Given the description of an element on the screen output the (x, y) to click on. 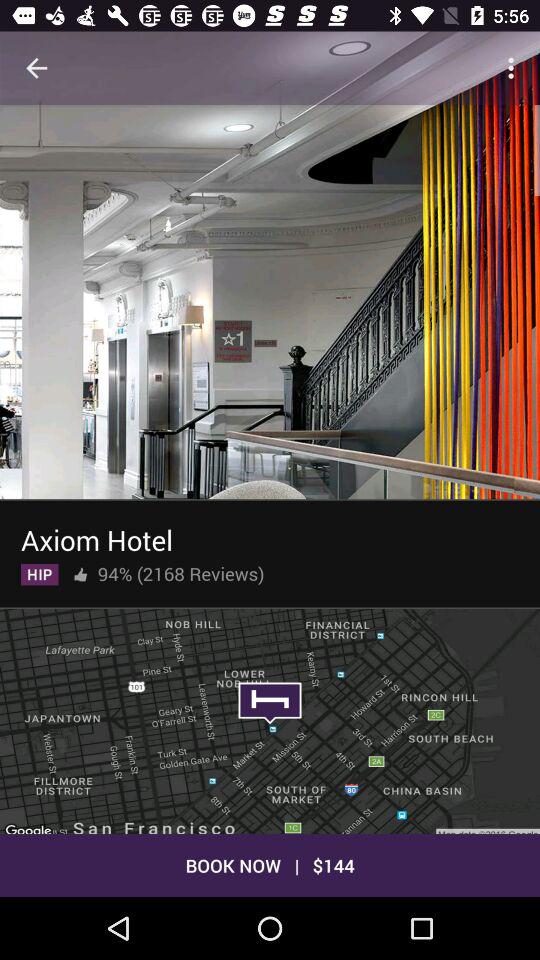
choose the item above 94% (2168 reviews) item (96, 536)
